Given the description of an element on the screen output the (x, y) to click on. 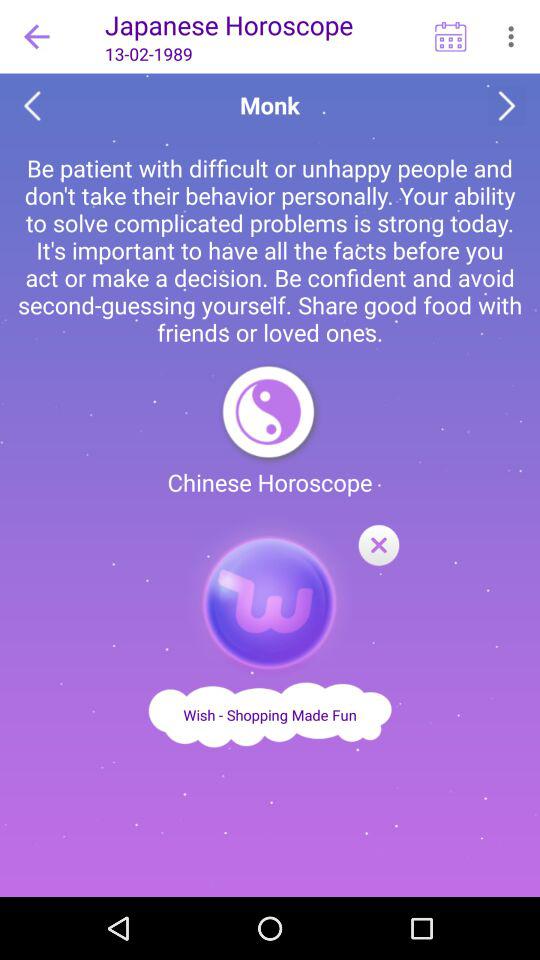
next (506, 106)
